Given the description of an element on the screen output the (x, y) to click on. 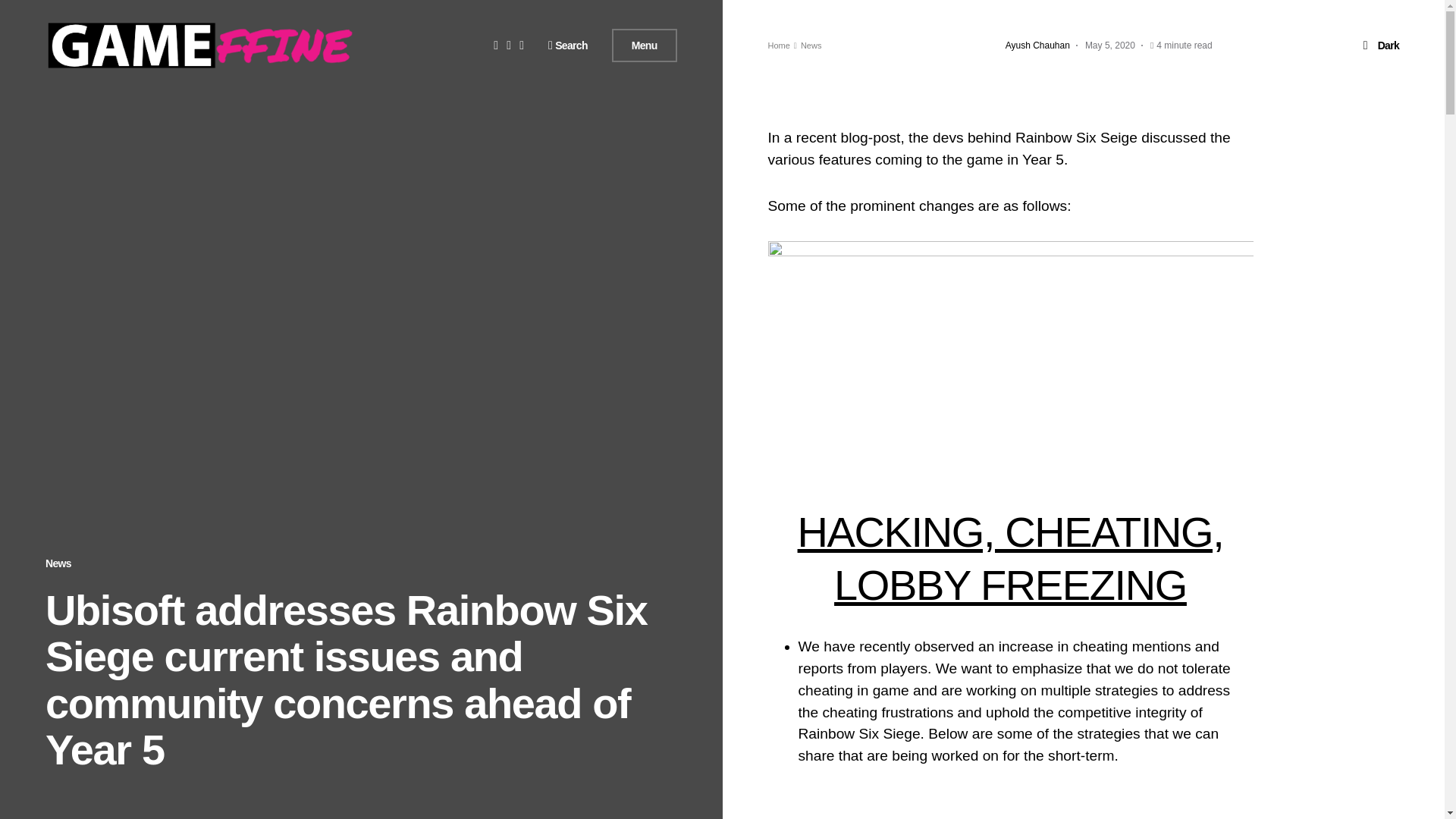
View all posts by Ayush Chauhan (1038, 45)
News (58, 563)
